Given the description of an element on the screen output the (x, y) to click on. 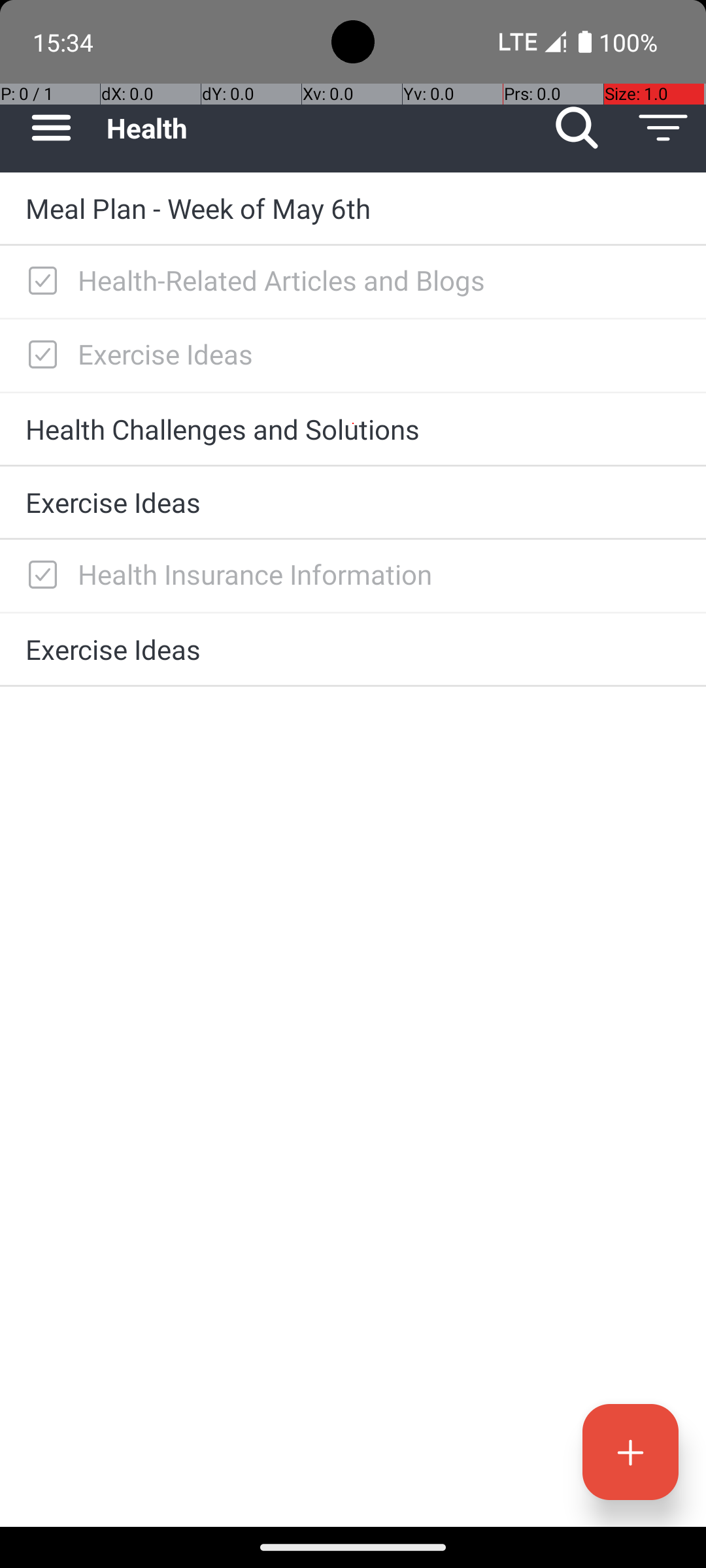
Meal Plan - Week of May 6th Element type: android.widget.TextView (352, 207)
to-do: Health-Related Articles and Blogs Element type: android.widget.CheckBox (38, 281)
Health-Related Articles and Blogs Element type: android.widget.TextView (378, 279)
to-do: Exercise Ideas Element type: android.widget.CheckBox (38, 355)
Exercise Ideas Element type: android.widget.TextView (378, 353)
Health Challenges and Solutions Element type: android.widget.TextView (352, 428)
to-do: Health Insurance Information Element type: android.widget.CheckBox (38, 575)
Health Insurance Information Element type: android.widget.TextView (378, 573)
